Given the description of an element on the screen output the (x, y) to click on. 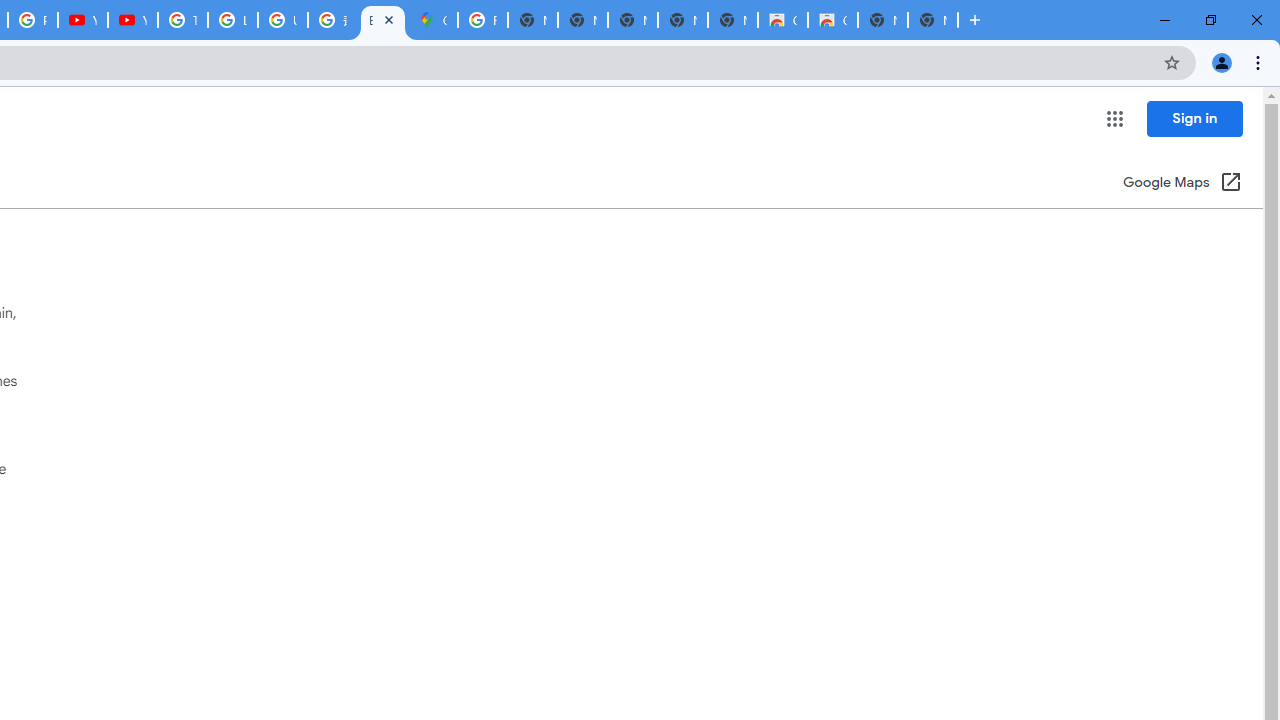
Classic Blue - Chrome Web Store (782, 20)
New Tab (932, 20)
Google Maps (433, 20)
Google Maps (Open in a new window) (1182, 183)
Classic Blue - Chrome Web Store (832, 20)
